Given the description of an element on the screen output the (x, y) to click on. 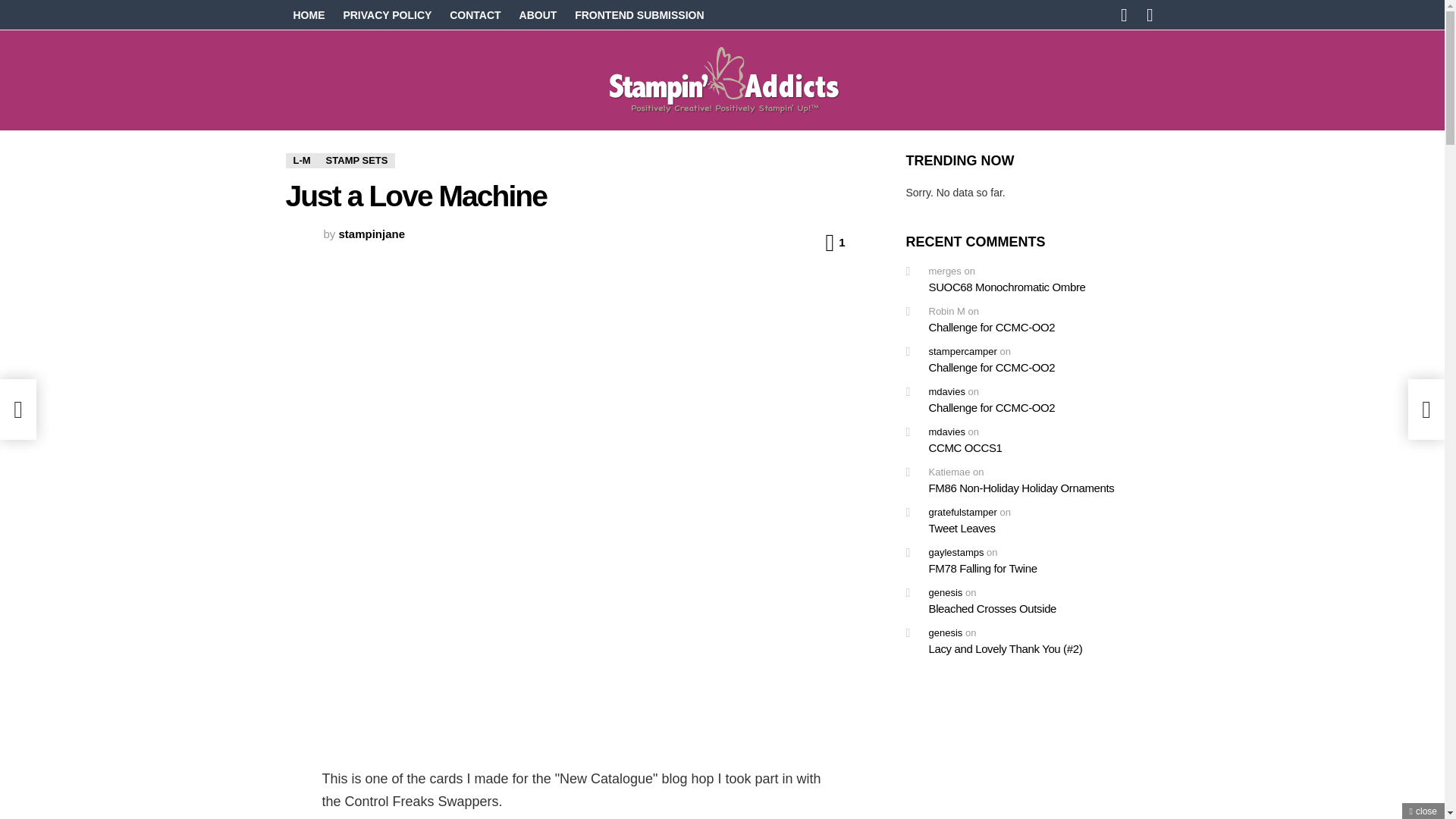
CONTACT (475, 15)
STAMP SETS (357, 160)
HOME (308, 15)
ABOUT (538, 15)
PRIVACY POLICY (386, 15)
FRONTEND SUBMISSION (639, 15)
Posts by stampinjane (372, 233)
L-M (301, 160)
stampinjane (372, 233)
